Given the description of an element on the screen output the (x, y) to click on. 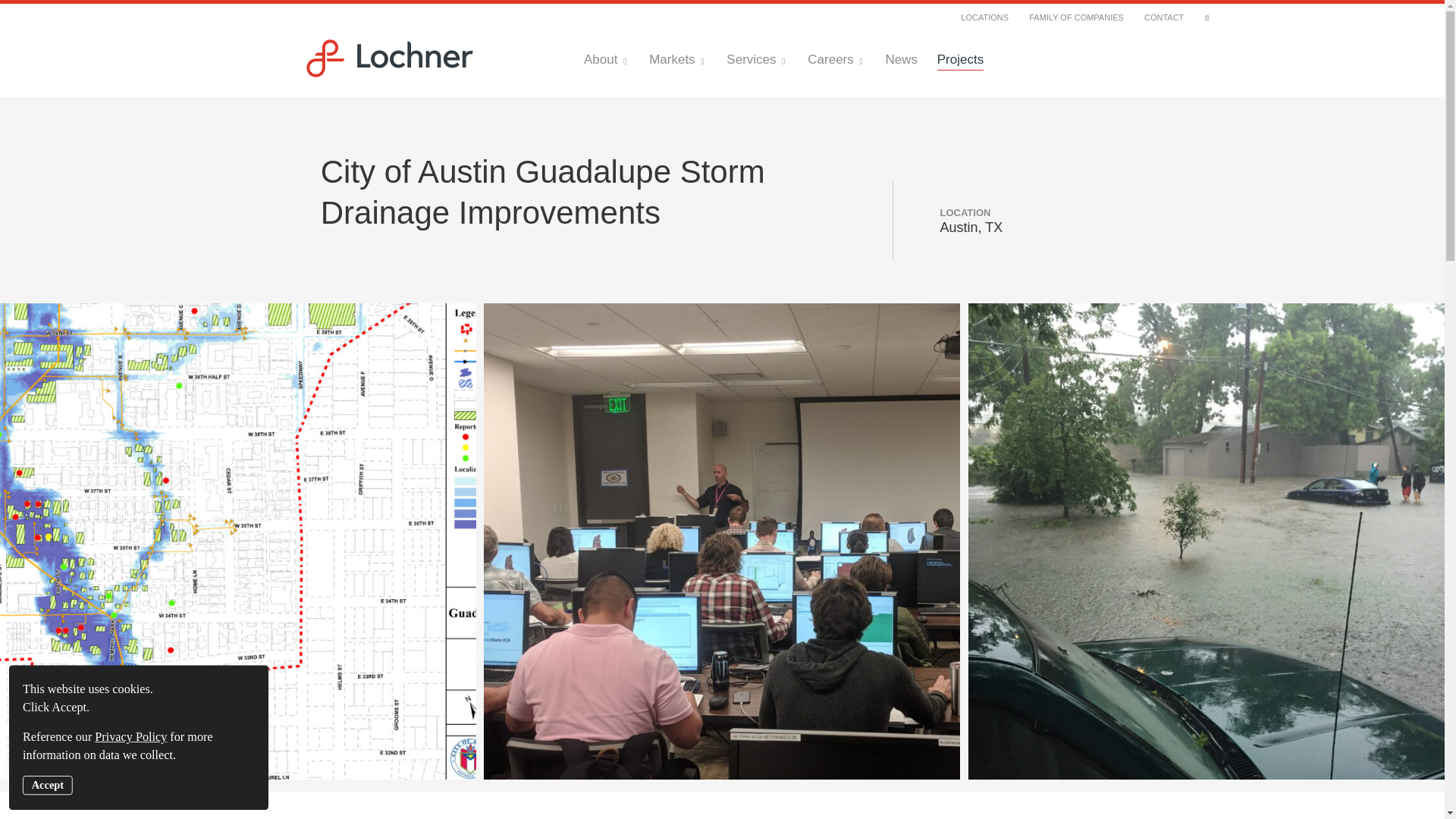
Services (756, 59)
Markets (677, 59)
Careers (836, 59)
News (901, 59)
LOCATIONS (984, 17)
FAMILY OF COMPANIES (1076, 17)
About (605, 59)
Projects (960, 59)
CONTACT (1163, 17)
